Given the description of an element on the screen output the (x, y) to click on. 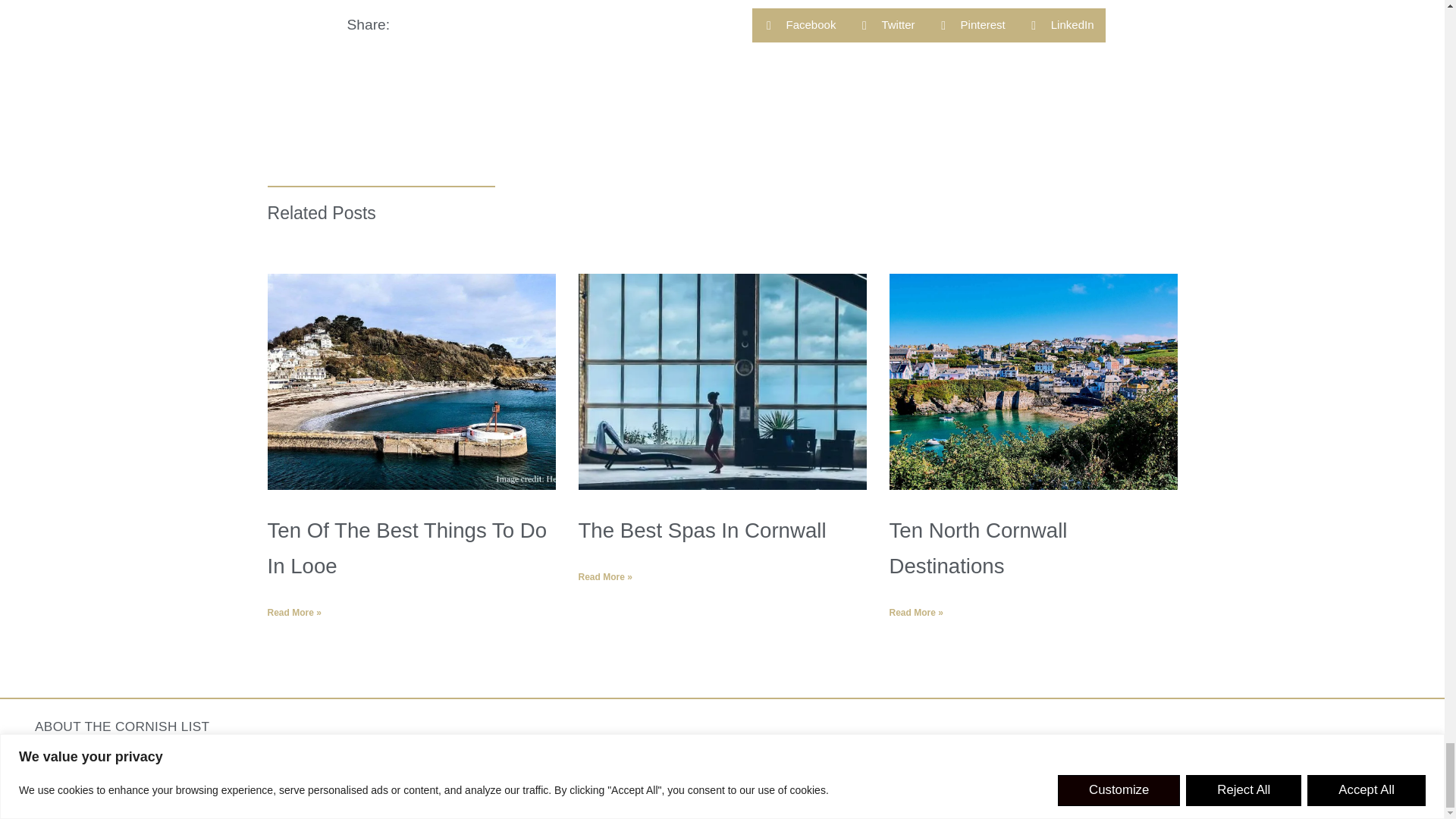
Ten North Cornwall Destinations (977, 548)
Ten Of The Best Things To Do In Looe (406, 548)
The Best Spas In Cornwall (701, 530)
ABOUT THE CORNISH LIST (121, 726)
